Given the description of an element on the screen output the (x, y) to click on. 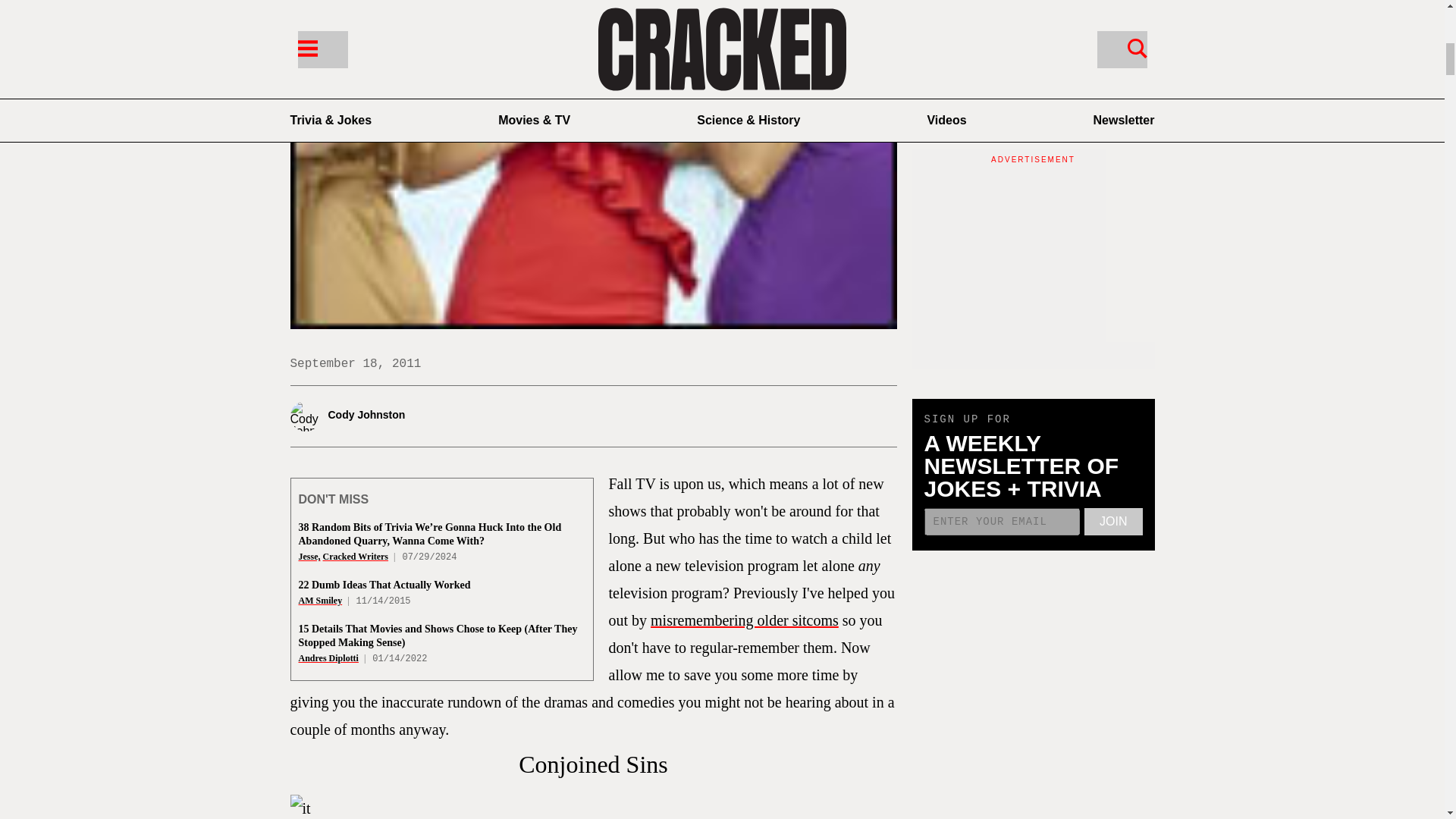
Cody Johnston (387, 416)
22 Dumb Ideas That Actually Worked (384, 584)
AM Smiley (320, 600)
Jesse, (309, 556)
Cracked Writers (355, 556)
